Given the description of an element on the screen output the (x, y) to click on. 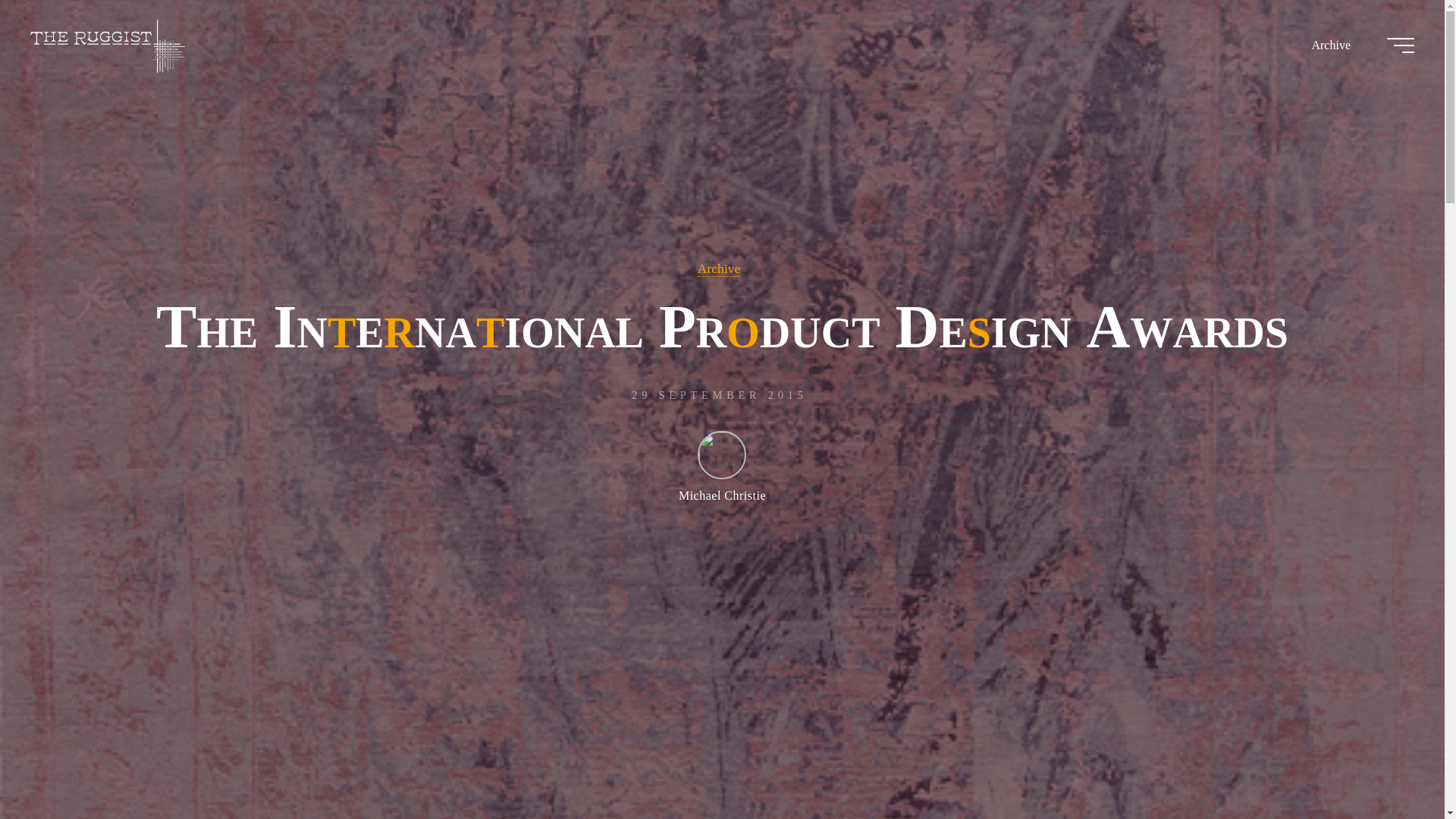
Archive (719, 268)
Read more (721, 724)
View all posts by Michael Christie (721, 466)
Michael Christie (721, 466)
The Ruggist (107, 44)
Archive (1330, 45)
